Given the description of an element on the screen output the (x, y) to click on. 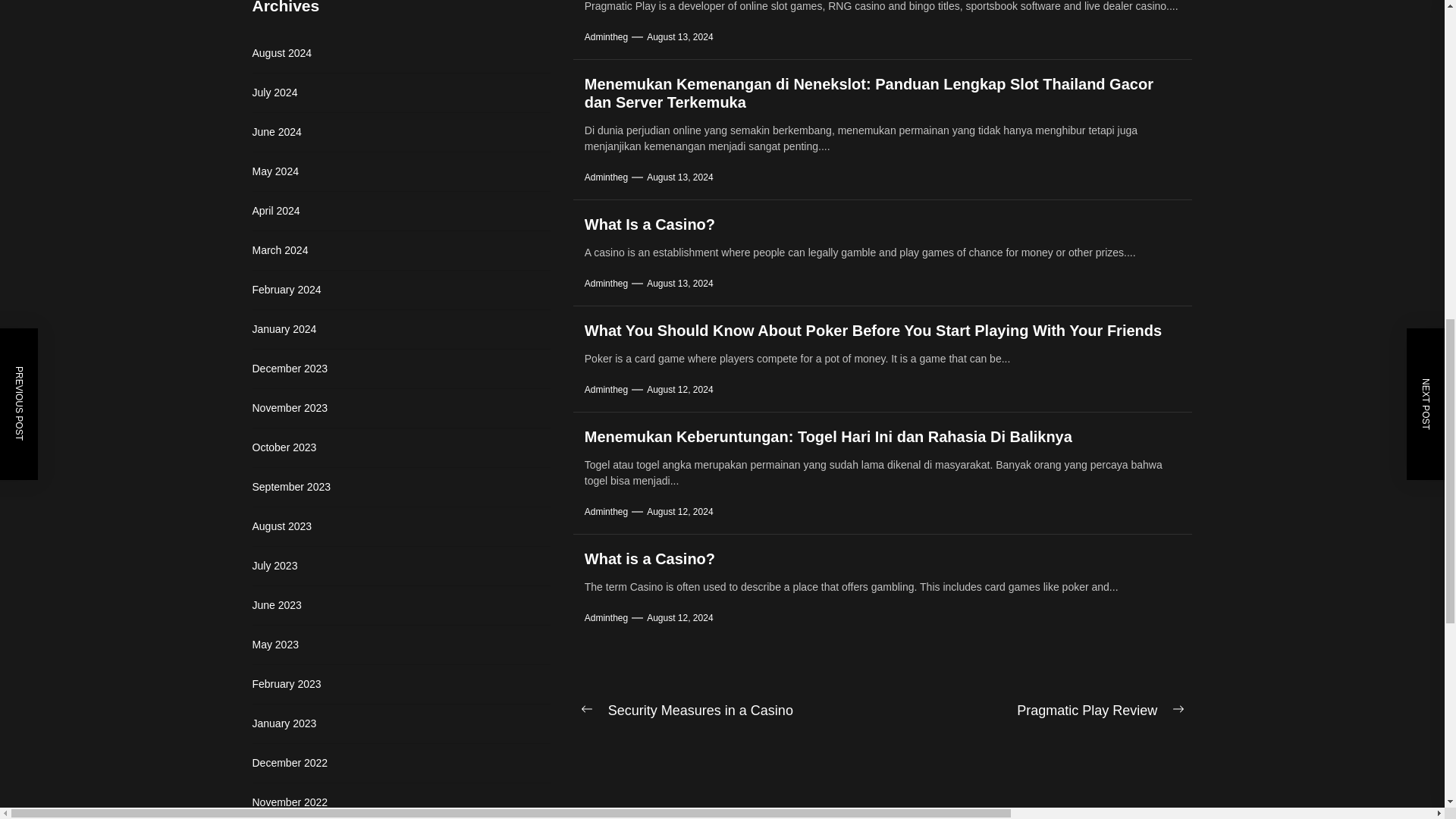
Admintheg (606, 283)
Admintheg (606, 176)
August 13, 2024 (679, 36)
August 13, 2024 (679, 283)
What Is a Casino? (649, 224)
Admintheg (606, 36)
August 13, 2024 (679, 176)
